Given the description of an element on the screen output the (x, y) to click on. 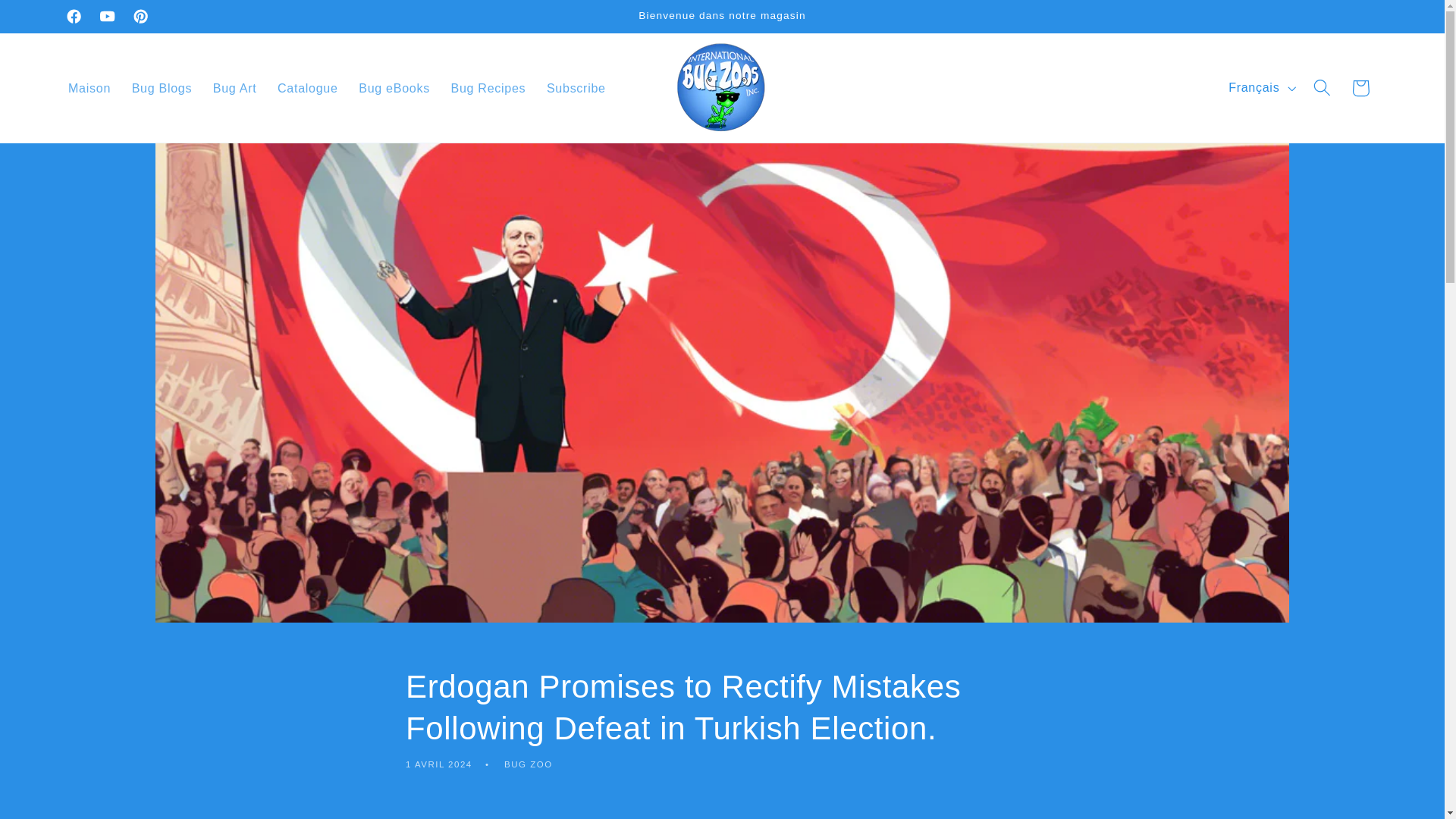
YouTube (106, 16)
Bug Recipes (488, 87)
Catalogue (306, 87)
Bug Blogs (161, 87)
Facebook (74, 16)
Ignorer et passer au contenu (52, 20)
Pinterest (140, 16)
Subscribe (575, 87)
Bug Art (234, 87)
Panier (1360, 87)
Bug eBooks (393, 87)
Maison (89, 87)
